Given the description of an element on the screen output the (x, y) to click on. 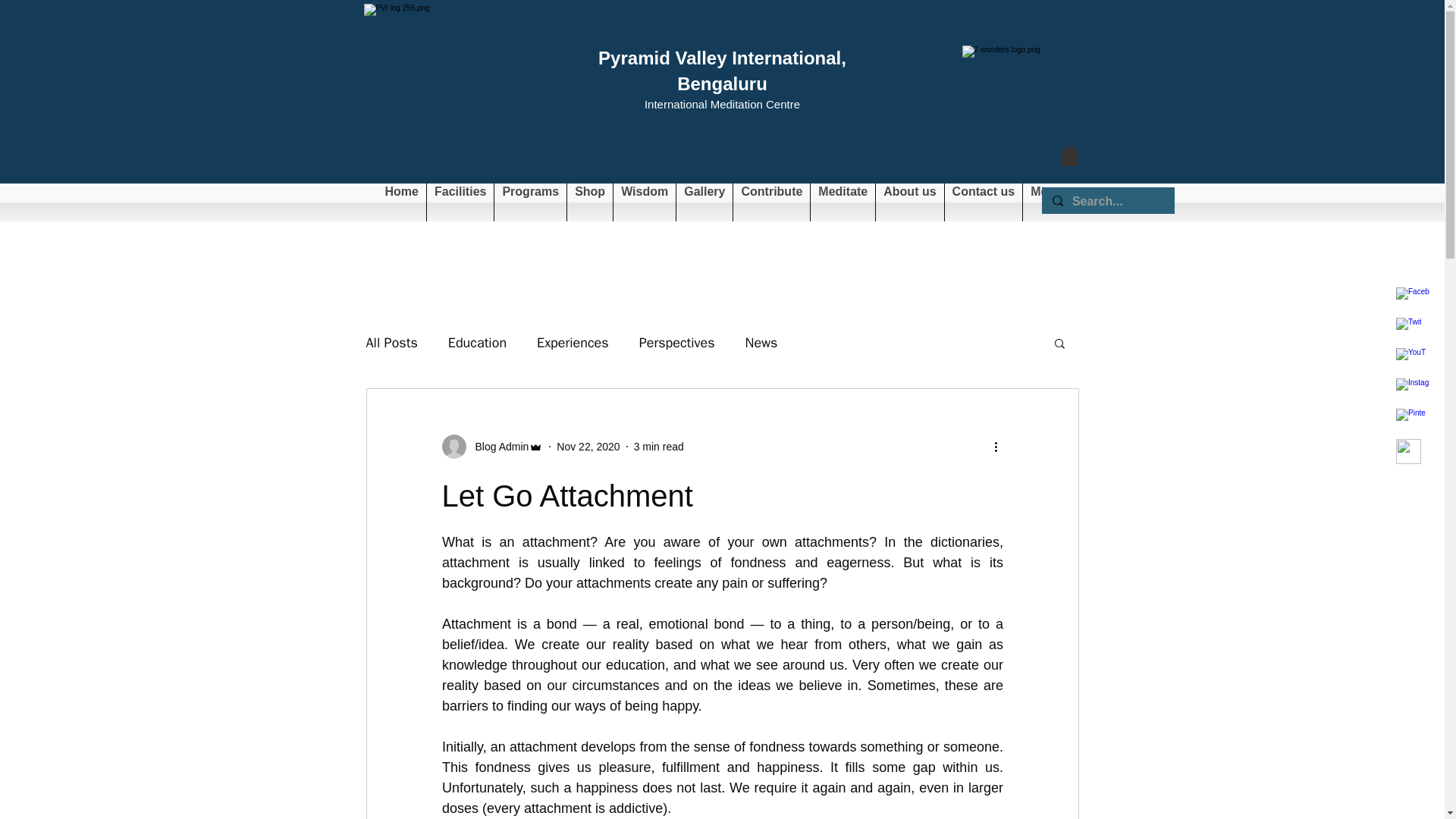
News (761, 342)
Home (401, 202)
Pyramid Valley International (719, 57)
Gallery (704, 202)
About us (909, 202)
Programs (530, 202)
Perspectives (676, 342)
Experiences (572, 342)
Contact us (983, 202)
Meditate (842, 202)
